Given the description of an element on the screen output the (x, y) to click on. 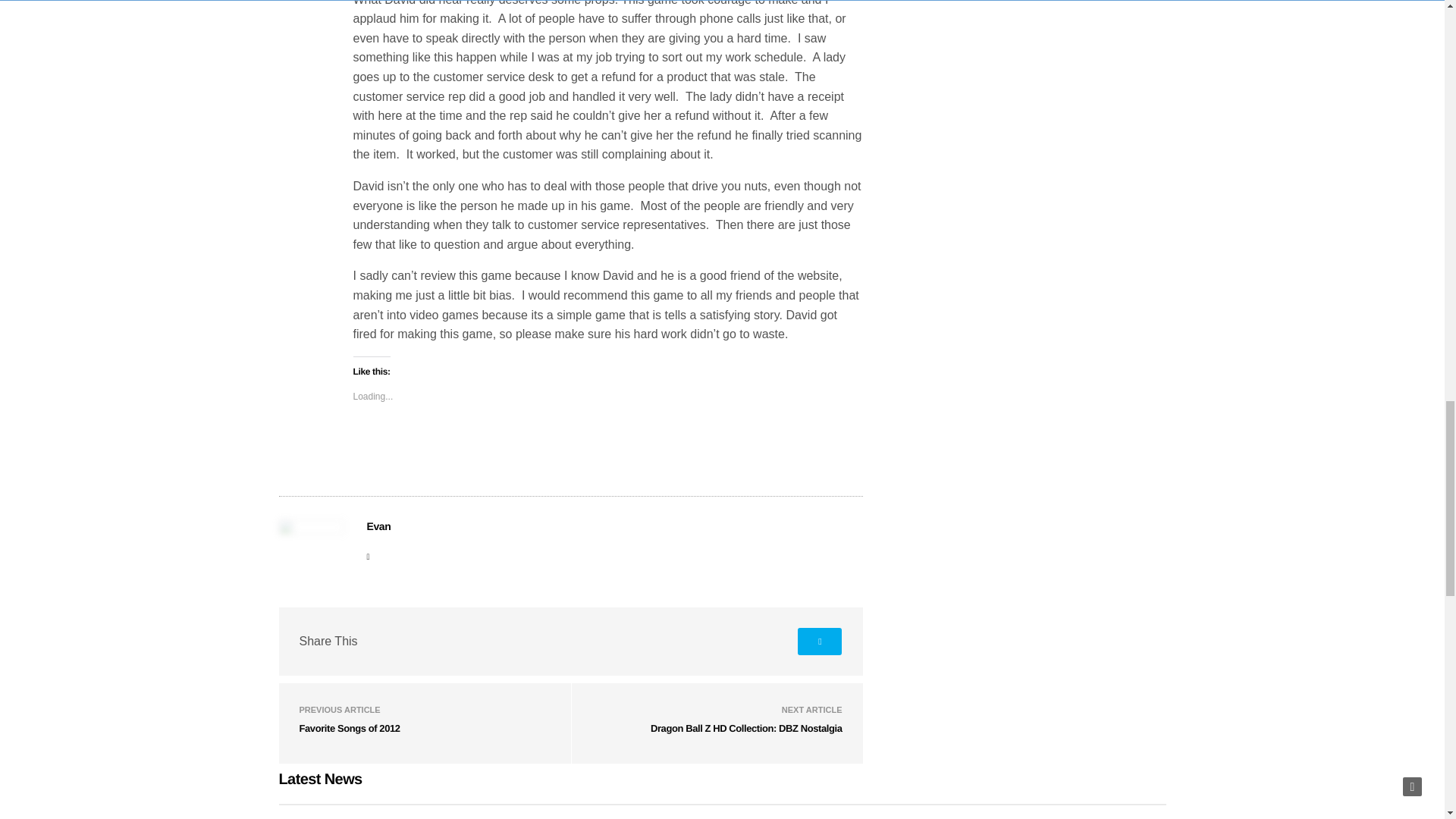
Dragon Ball Z HD Collection: DBZ Nostalgia (746, 727)
Favorite Songs of 2012 (348, 727)
Like or Reblog (608, 448)
